Given the description of an element on the screen output the (x, y) to click on. 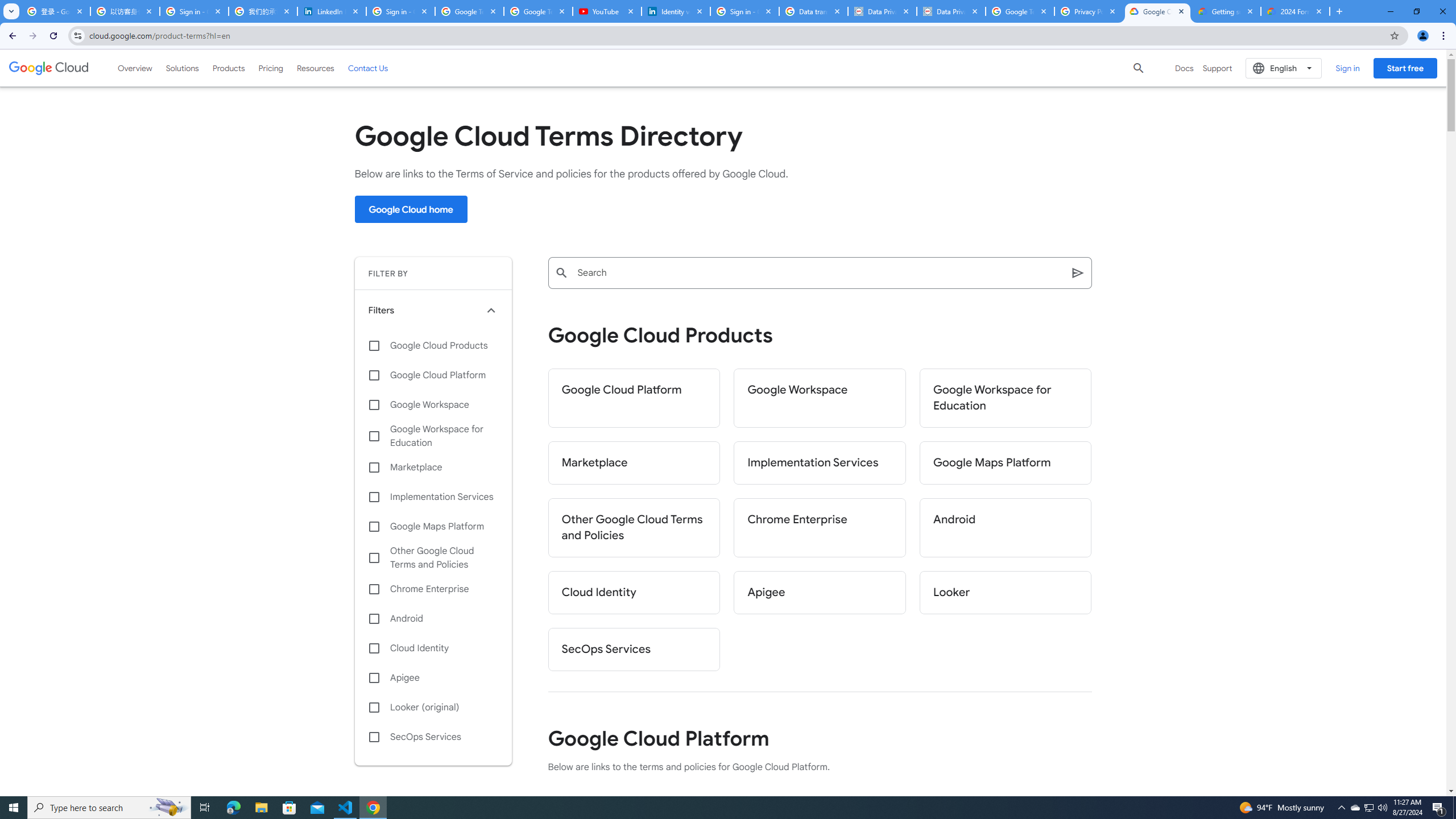
Google Cloud home (410, 208)
Filters keyboard_arrow_up (432, 309)
